Given the description of an element on the screen output the (x, y) to click on. 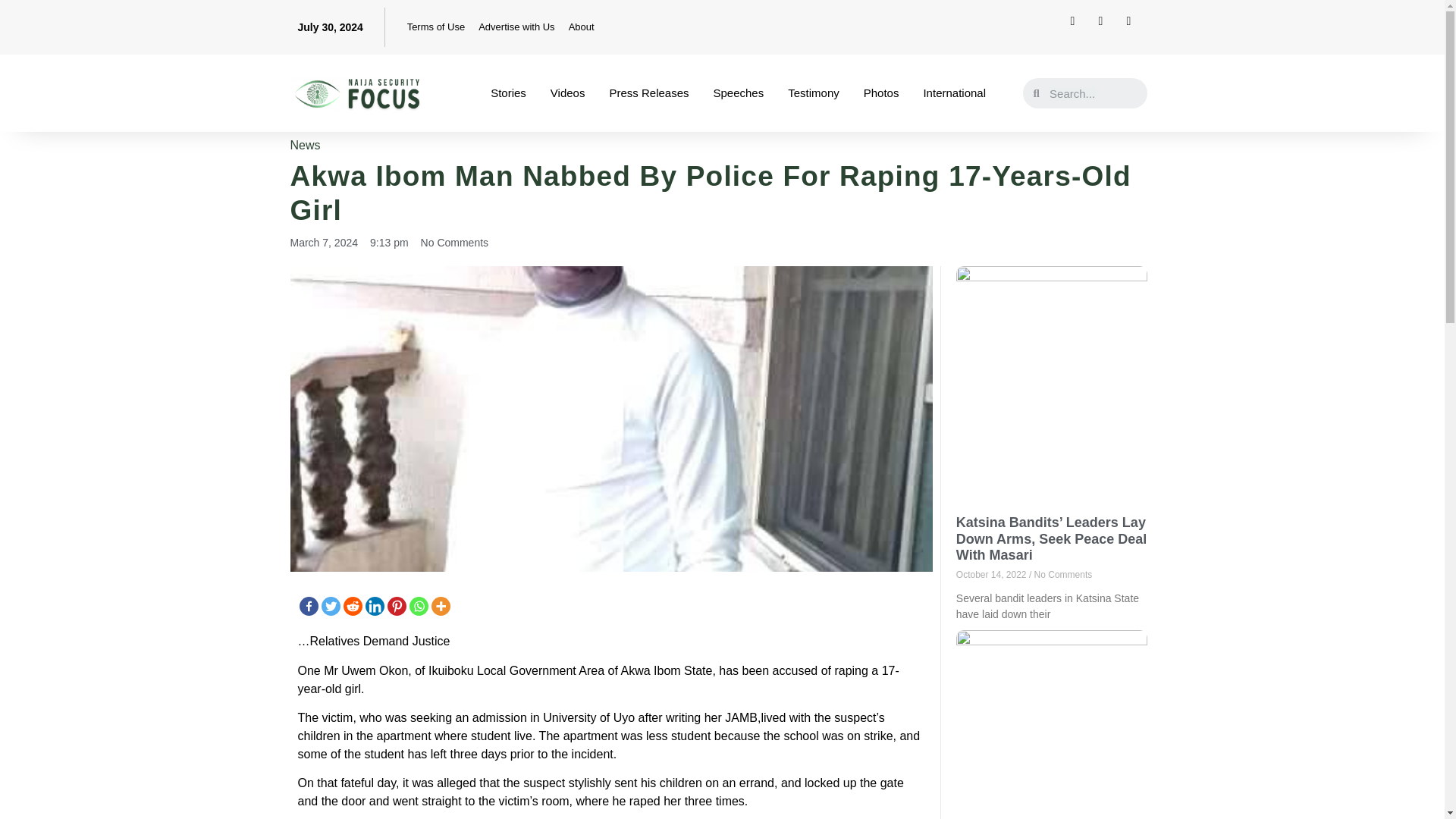
Whatsapp (418, 606)
More (439, 606)
Stories (508, 93)
Terms of Use (435, 26)
No Comments (453, 242)
Facebook (307, 606)
Speeches (738, 93)
Photos (881, 93)
Twitter (330, 606)
Testimony (813, 93)
About (581, 26)
Reddit (351, 606)
Advertise with Us (515, 26)
Pinterest (396, 606)
Videos (567, 93)
